Given the description of an element on the screen output the (x, y) to click on. 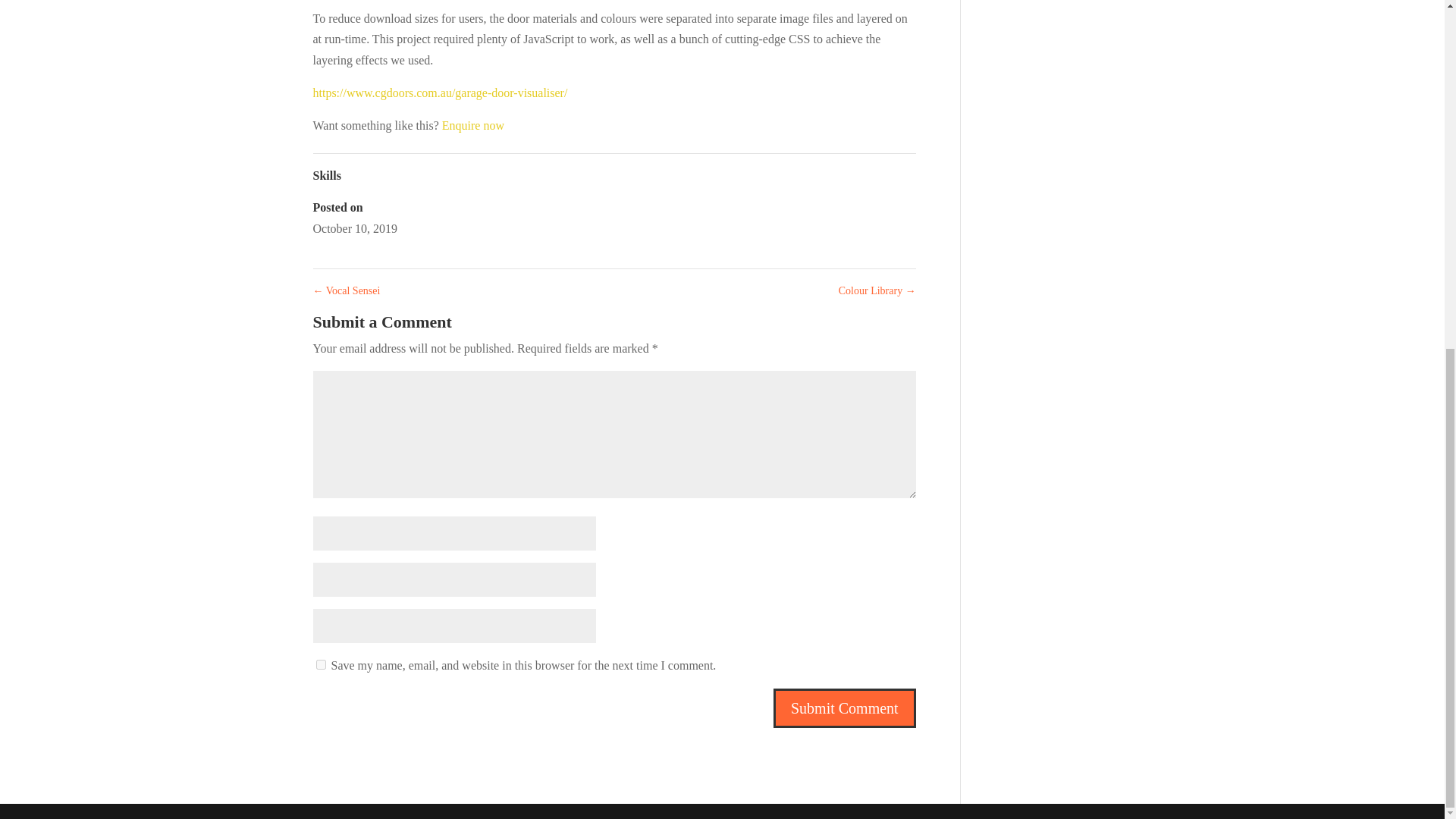
yes (319, 664)
Submit Comment (844, 708)
Enquire now (472, 124)
Submit Comment (844, 708)
